Given the description of an element on the screen output the (x, y) to click on. 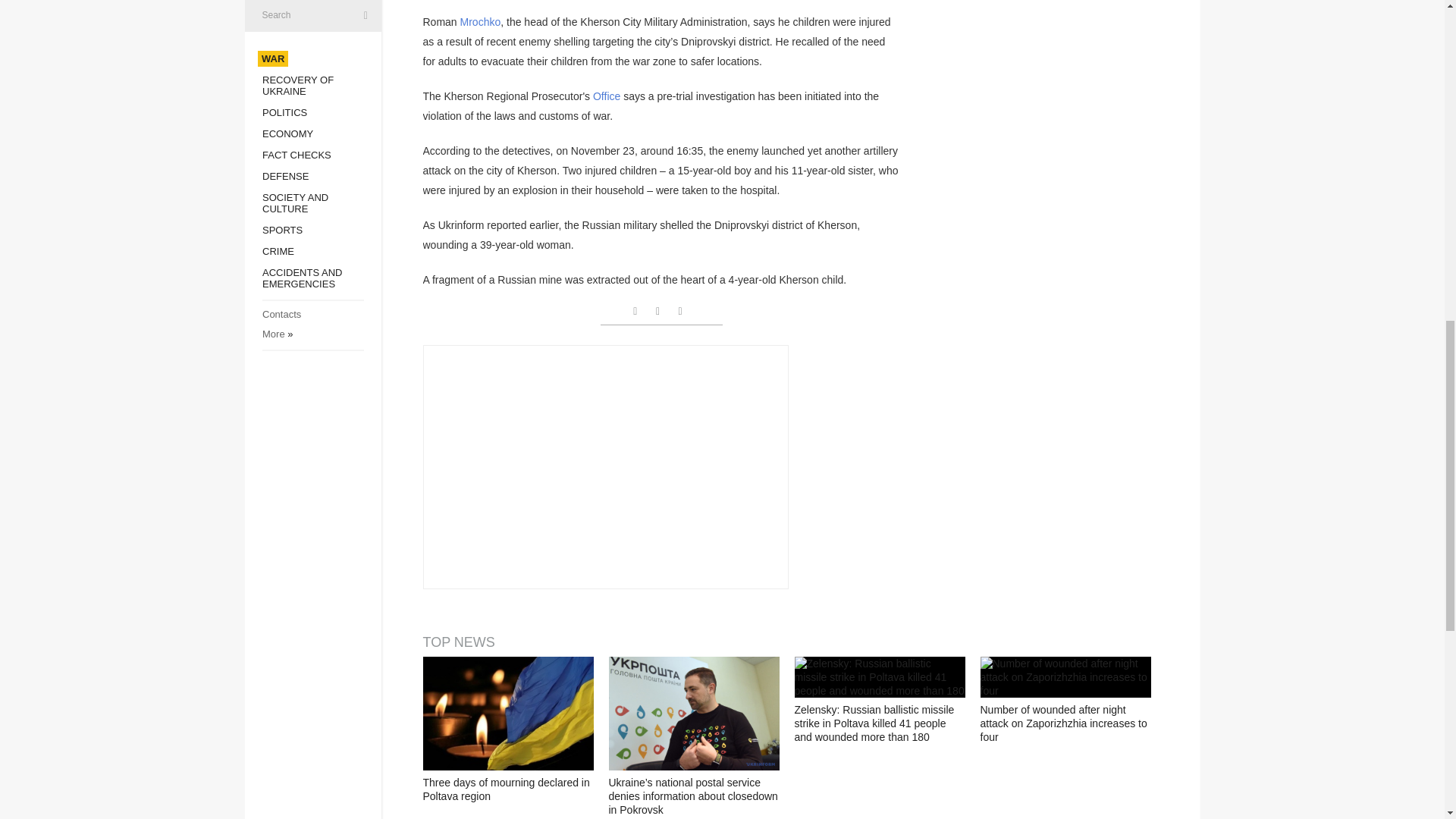
Three days of mourning declared in Poltava region (508, 713)
